Given the description of an element on the screen output the (x, y) to click on. 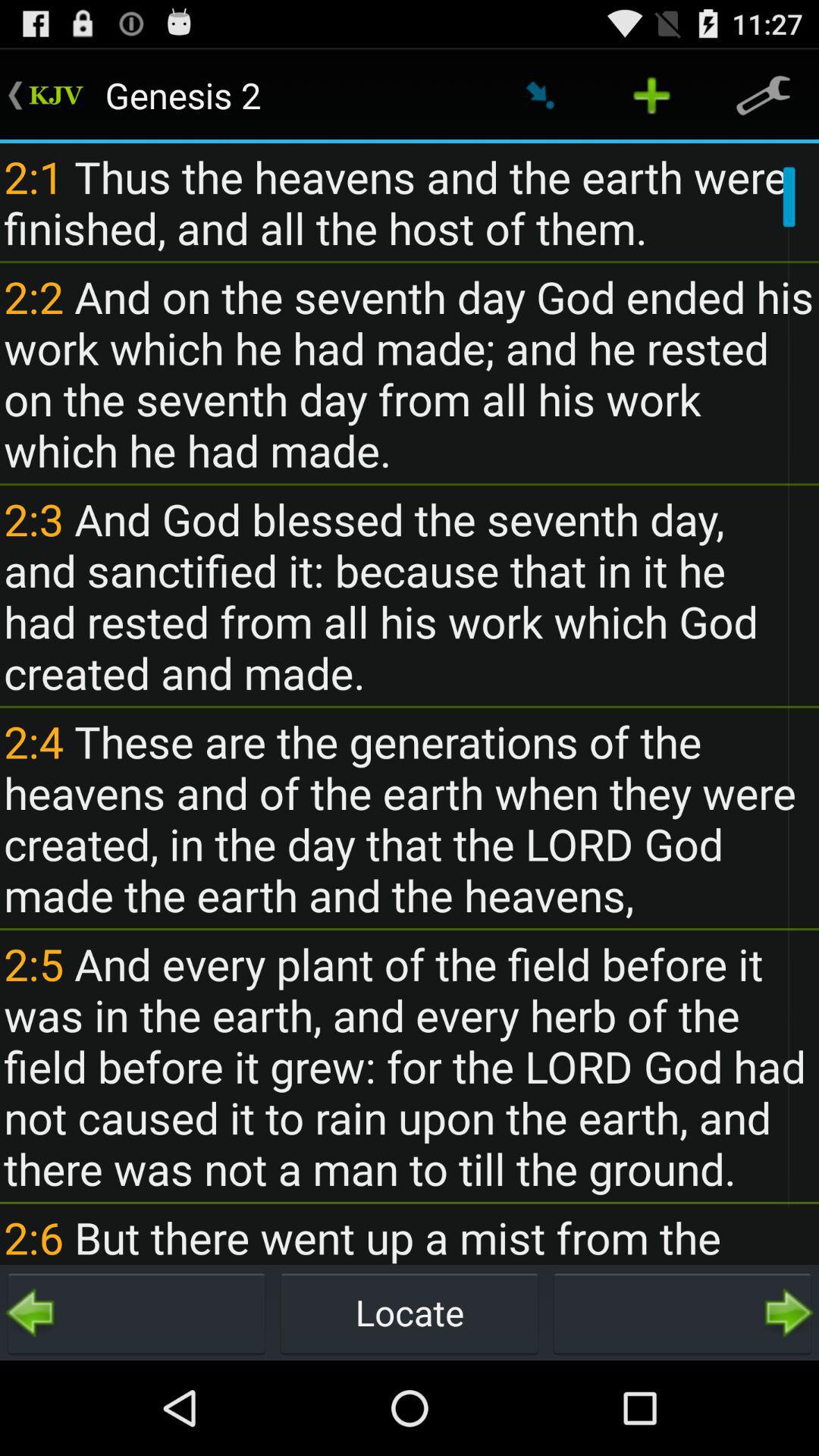
go to next (682, 1312)
